Given the description of an element on the screen output the (x, y) to click on. 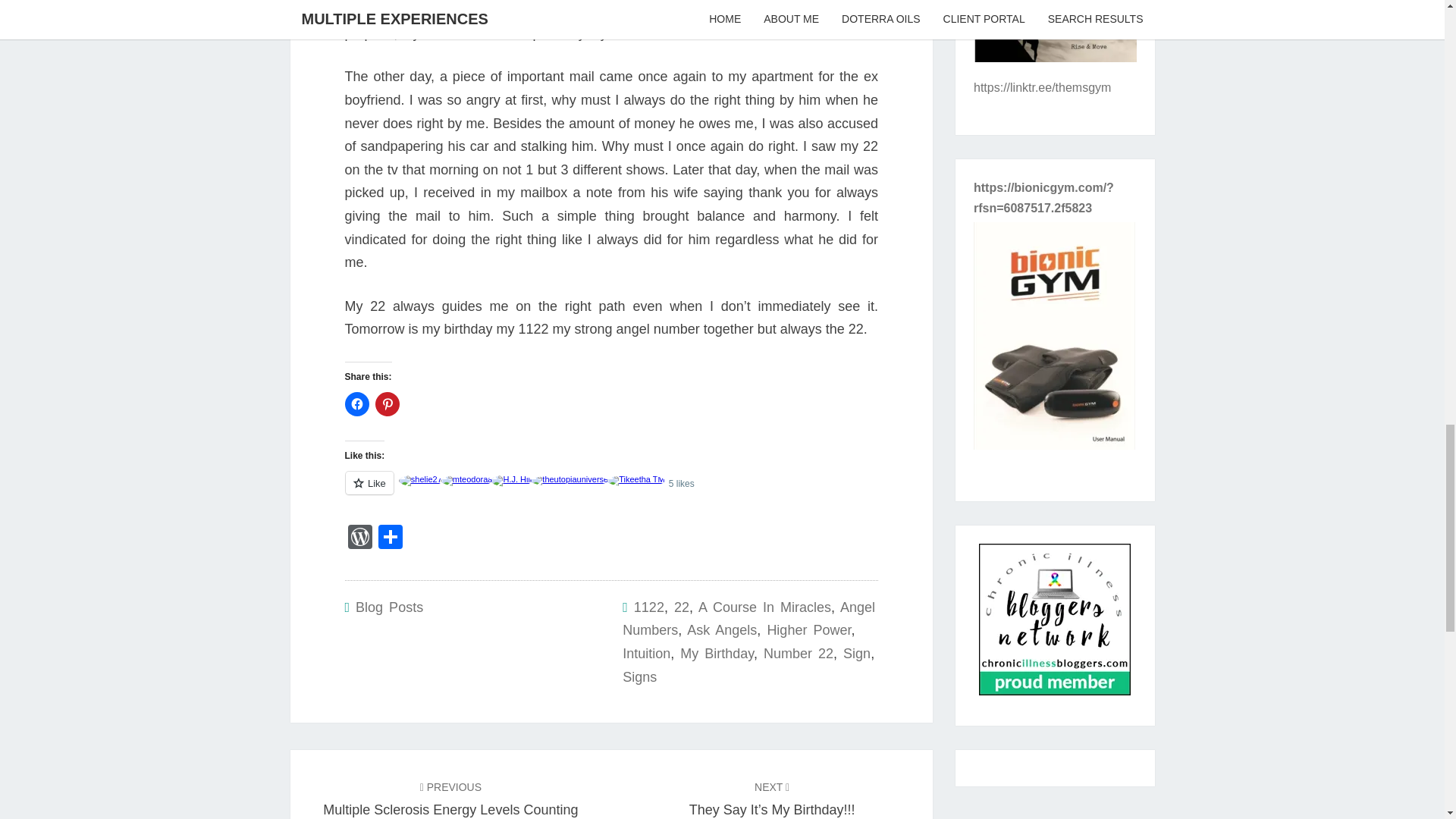
Higher Power (808, 630)
Click to share on Pinterest (450, 798)
1122 (386, 404)
Signs (648, 607)
Number 22 (639, 676)
Sign (797, 653)
WordPress (856, 653)
Like or Reblog (358, 538)
22 (610, 491)
